Given the description of an element on the screen output the (x, y) to click on. 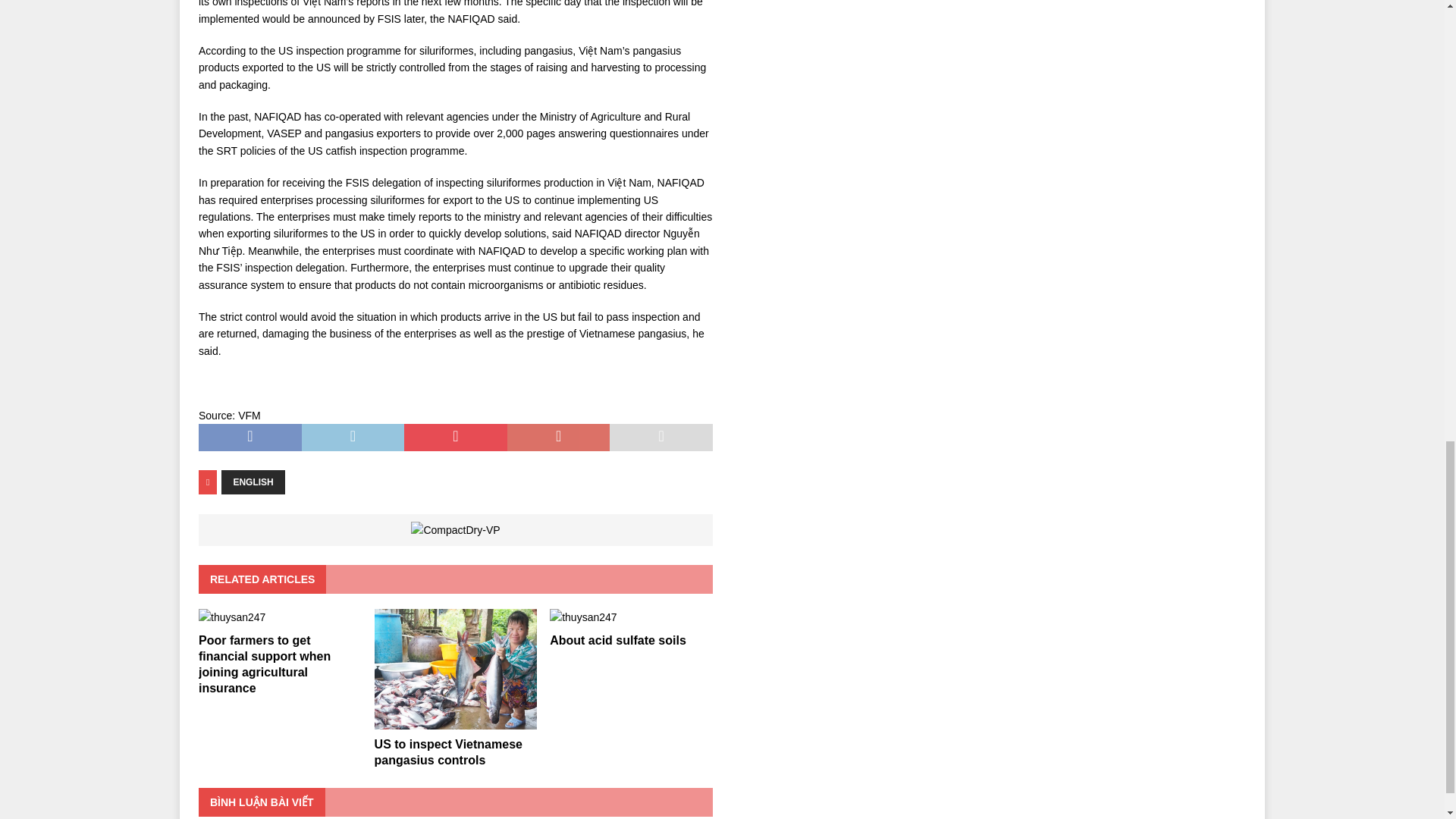
About acid sulfate soils (617, 640)
ENGLISH (252, 482)
US to inspect Vietnamese pangasius controls (448, 751)
US to inspect Vietnamese pangasius controls (455, 669)
